Given the description of an element on the screen output the (x, y) to click on. 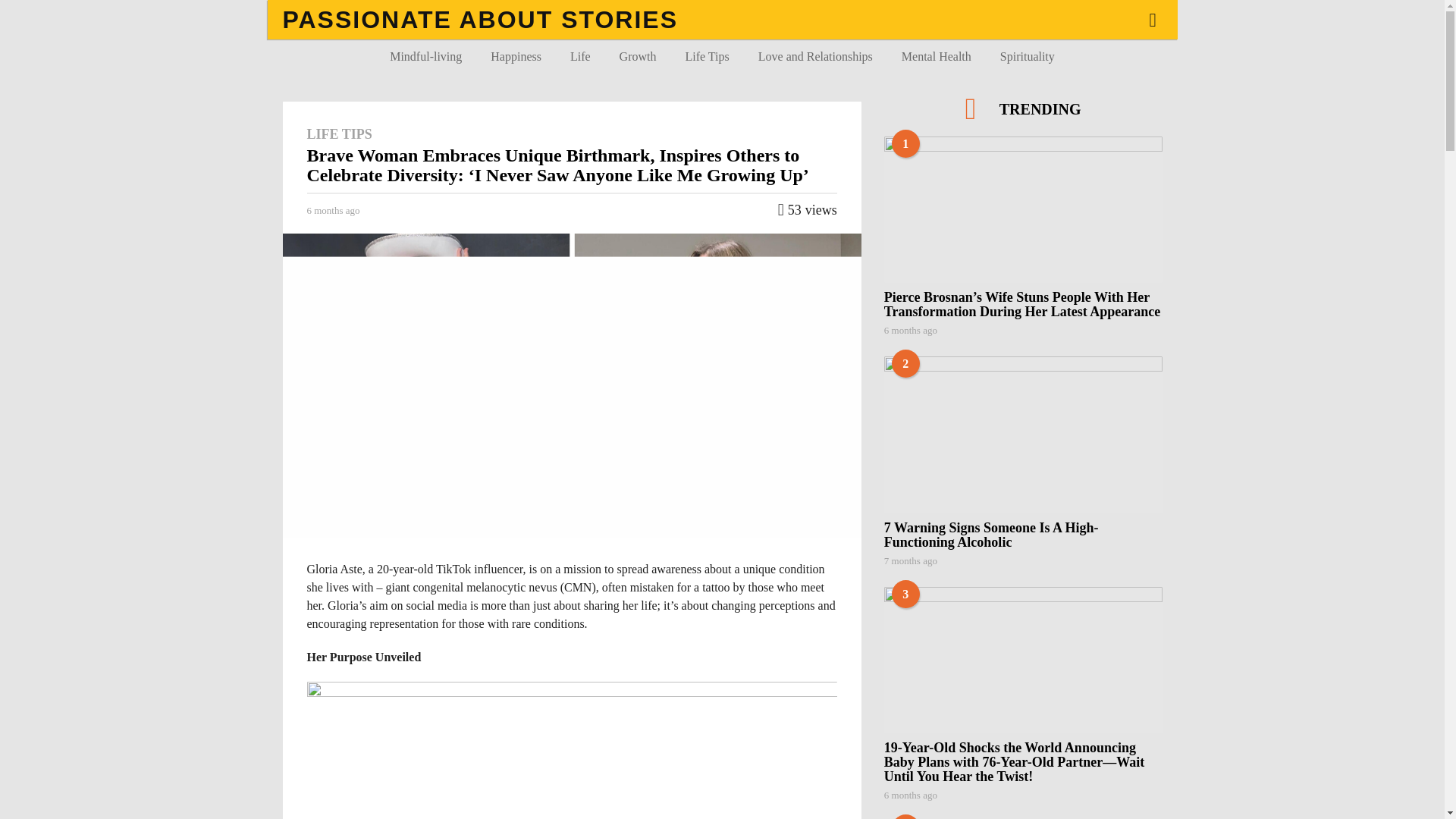
Mindful-living (425, 56)
Life Tips (705, 56)
Growth (638, 56)
LIFE TIPS (338, 133)
Life (580, 56)
Mental Health (935, 56)
Life (580, 56)
Spirituality (1026, 56)
Growth (638, 56)
Spirituality (1026, 56)
